Given the description of an element on the screen output the (x, y) to click on. 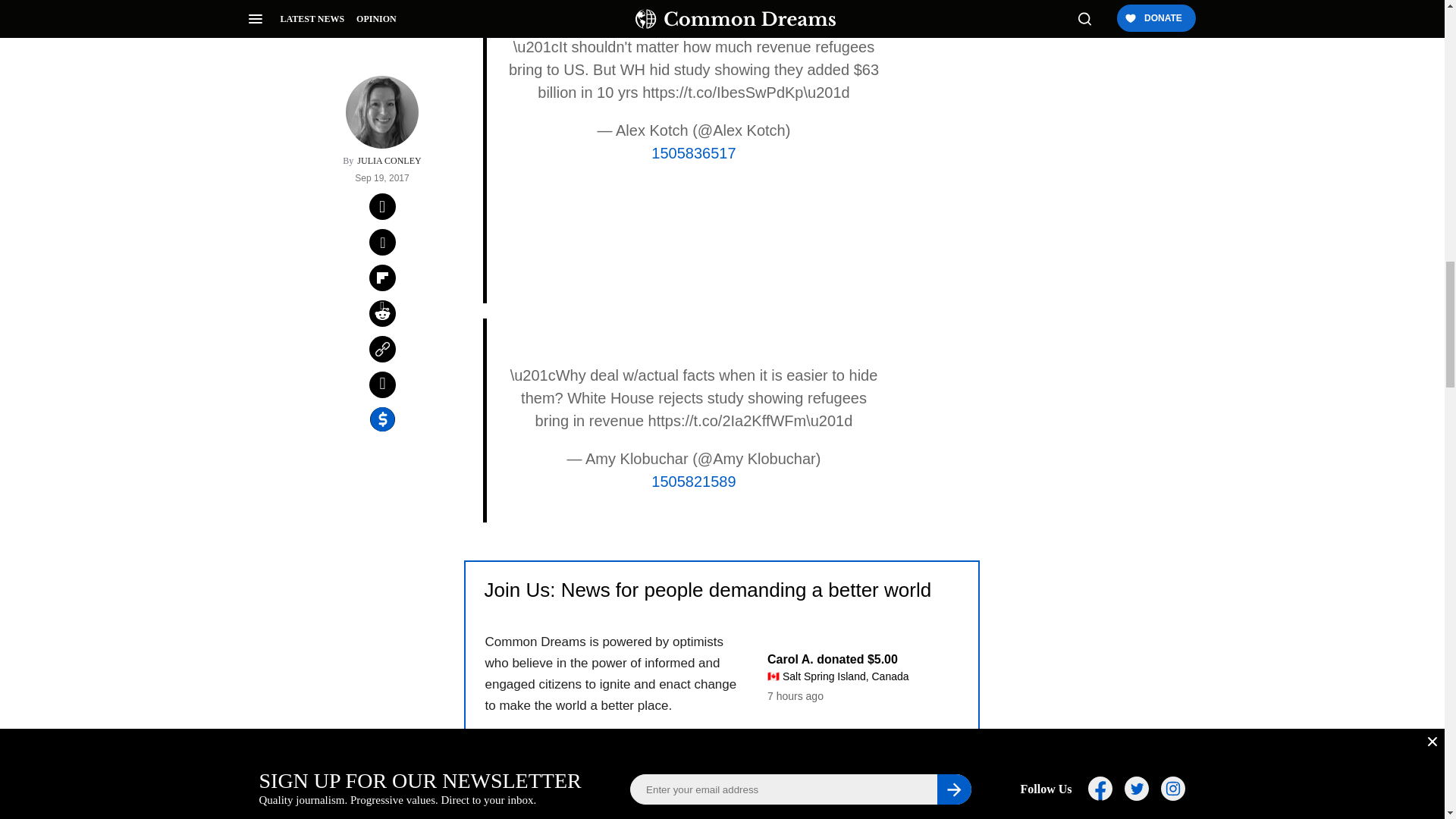
Recent Donations (852, 721)
